Given the description of an element on the screen output the (x, y) to click on. 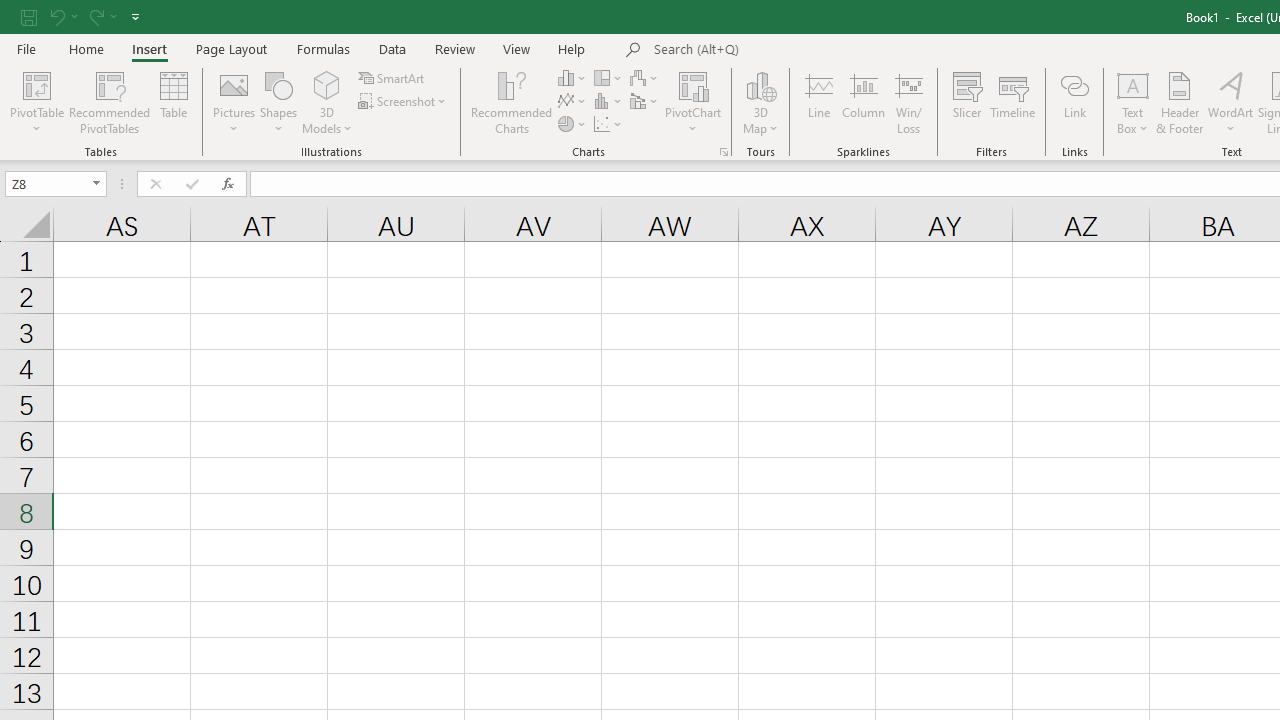
Link (1074, 102)
Header & Footer... (1179, 102)
3D Map (760, 102)
Insert Line or Area Chart (573, 101)
Screenshot (403, 101)
Insert Statistic Chart (609, 101)
